Given the description of an element on the screen output the (x, y) to click on. 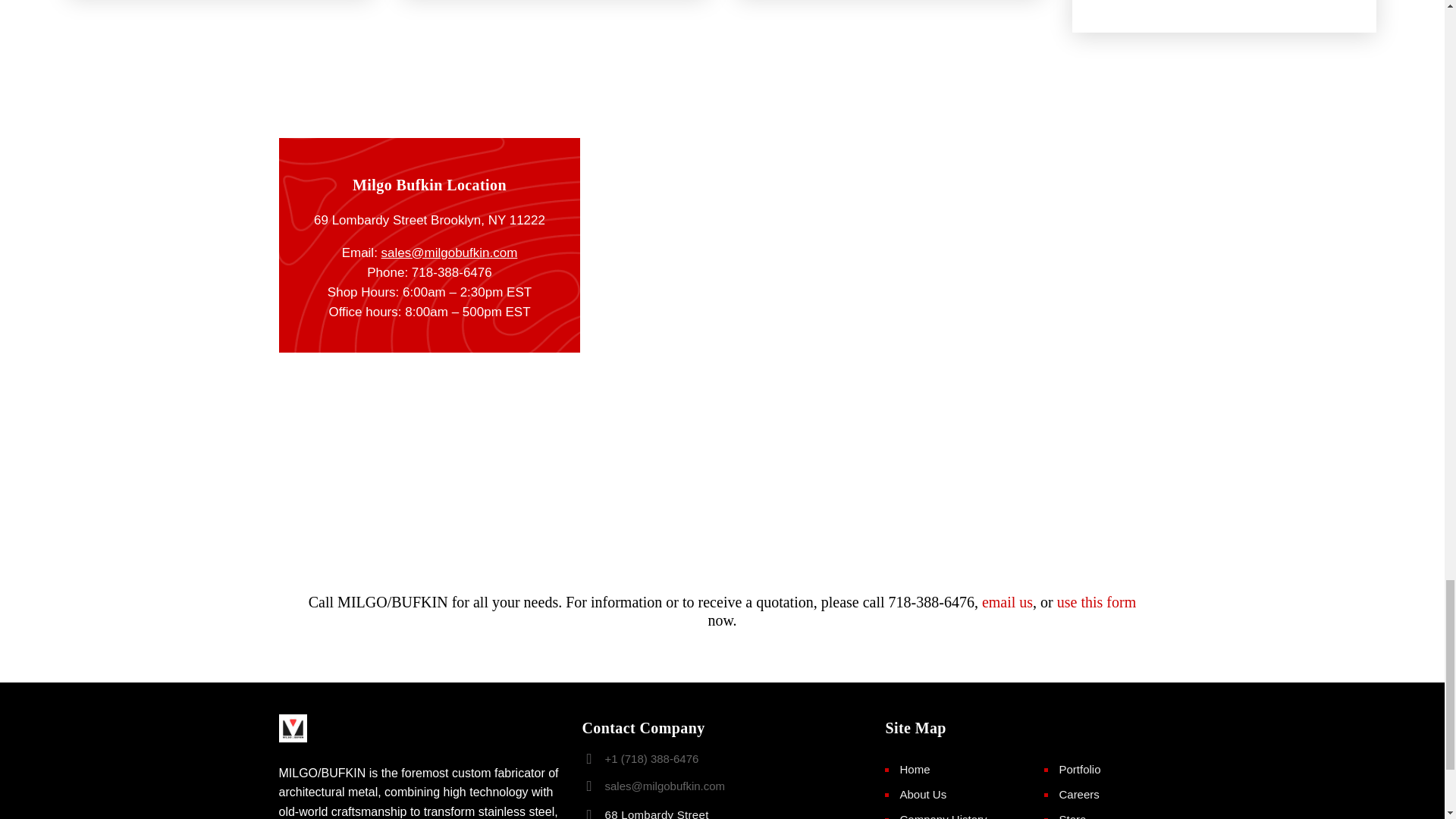
use this form (671, 813)
About Us (1096, 601)
Home (922, 794)
email us (914, 769)
Company History (1006, 601)
718-388-6476 (943, 816)
